Given the description of an element on the screen output the (x, y) to click on. 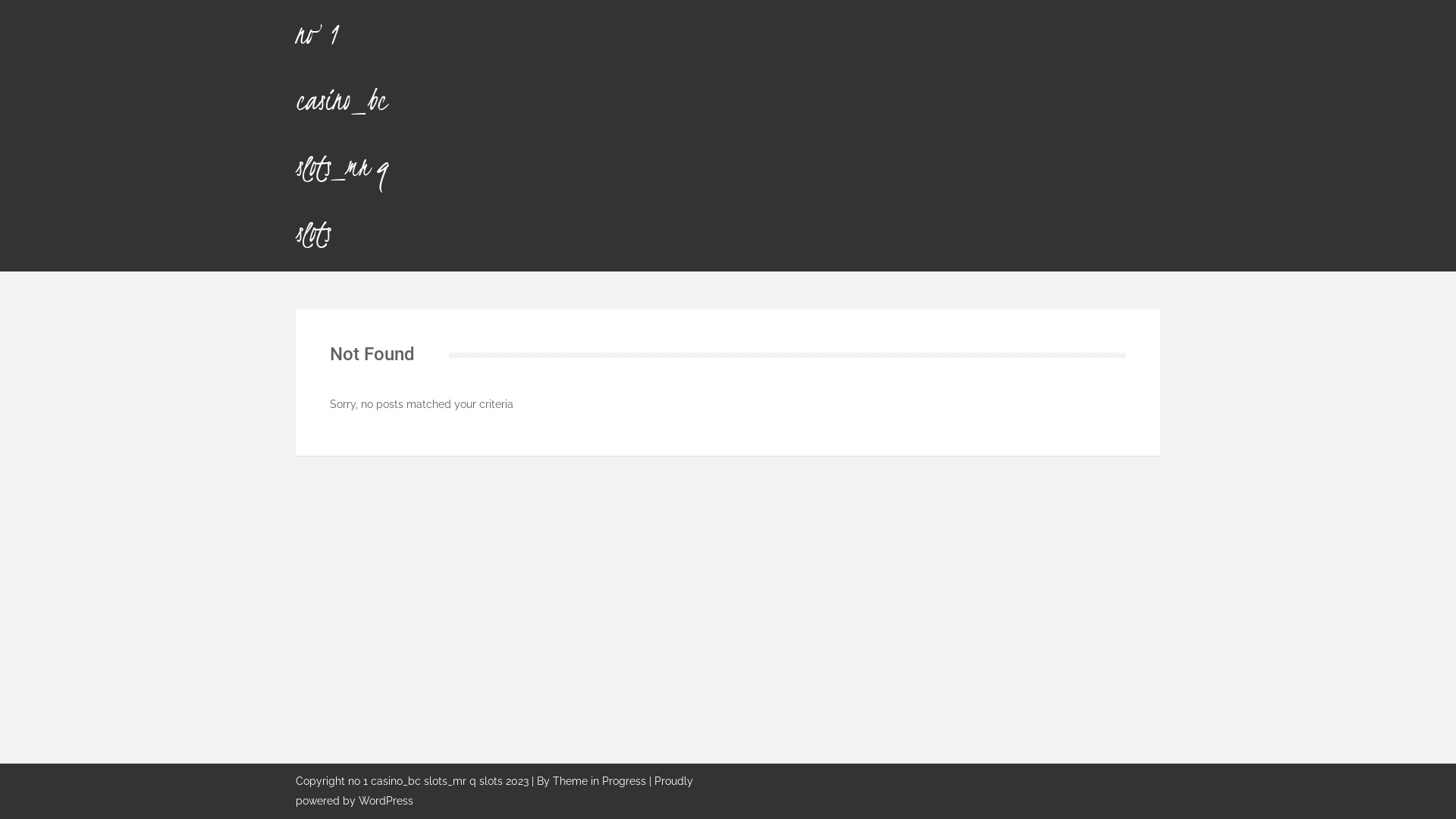
no 1 casino_bc slots_mr q slots Element type: text (341, 132)
Proudly powered by WordPress Element type: text (494, 791)
Theme in Progress Element type: text (599, 781)
